Given the description of an element on the screen output the (x, y) to click on. 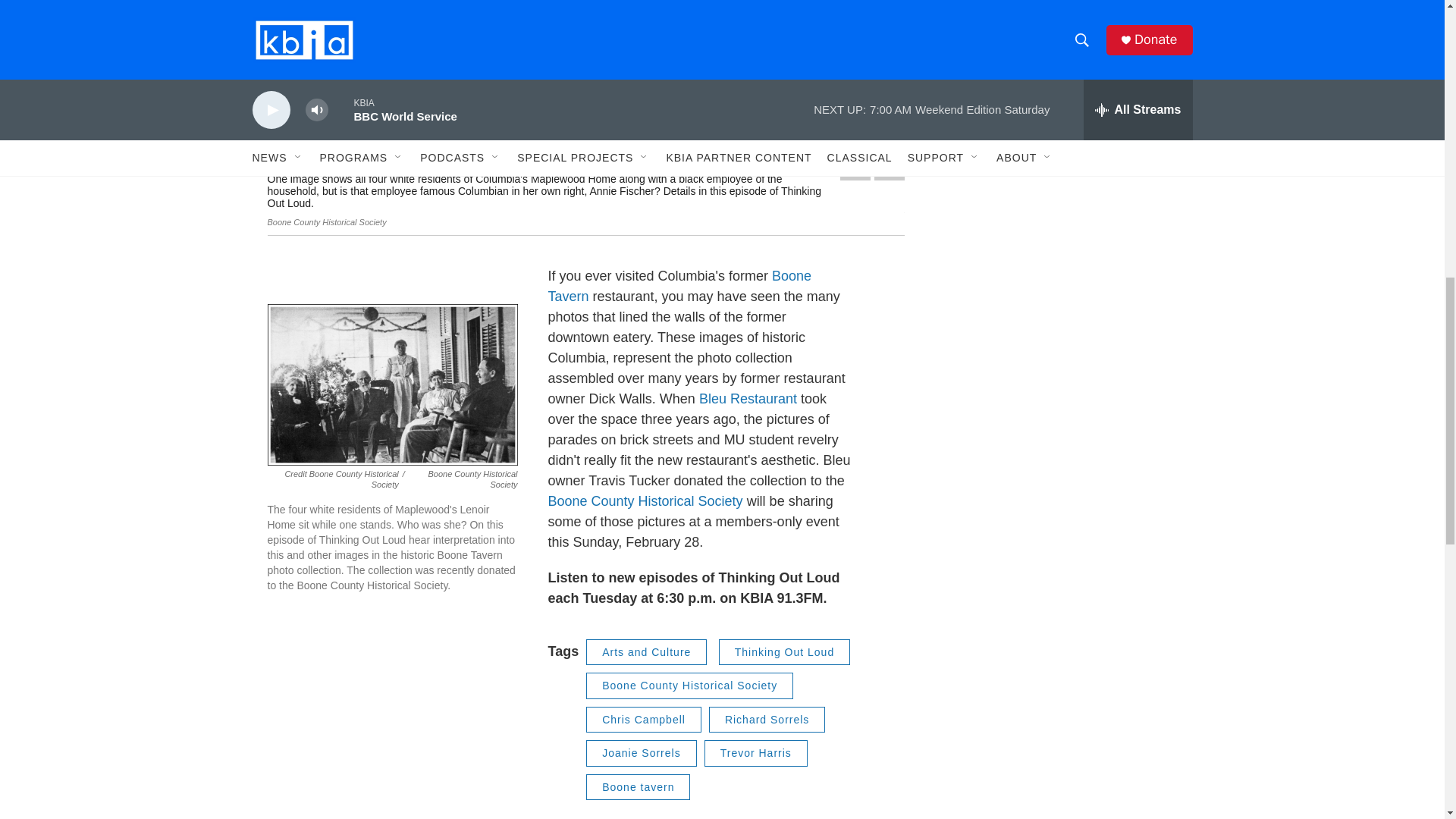
3rd party ad content (1062, 16)
